Given the description of an element on the screen output the (x, y) to click on. 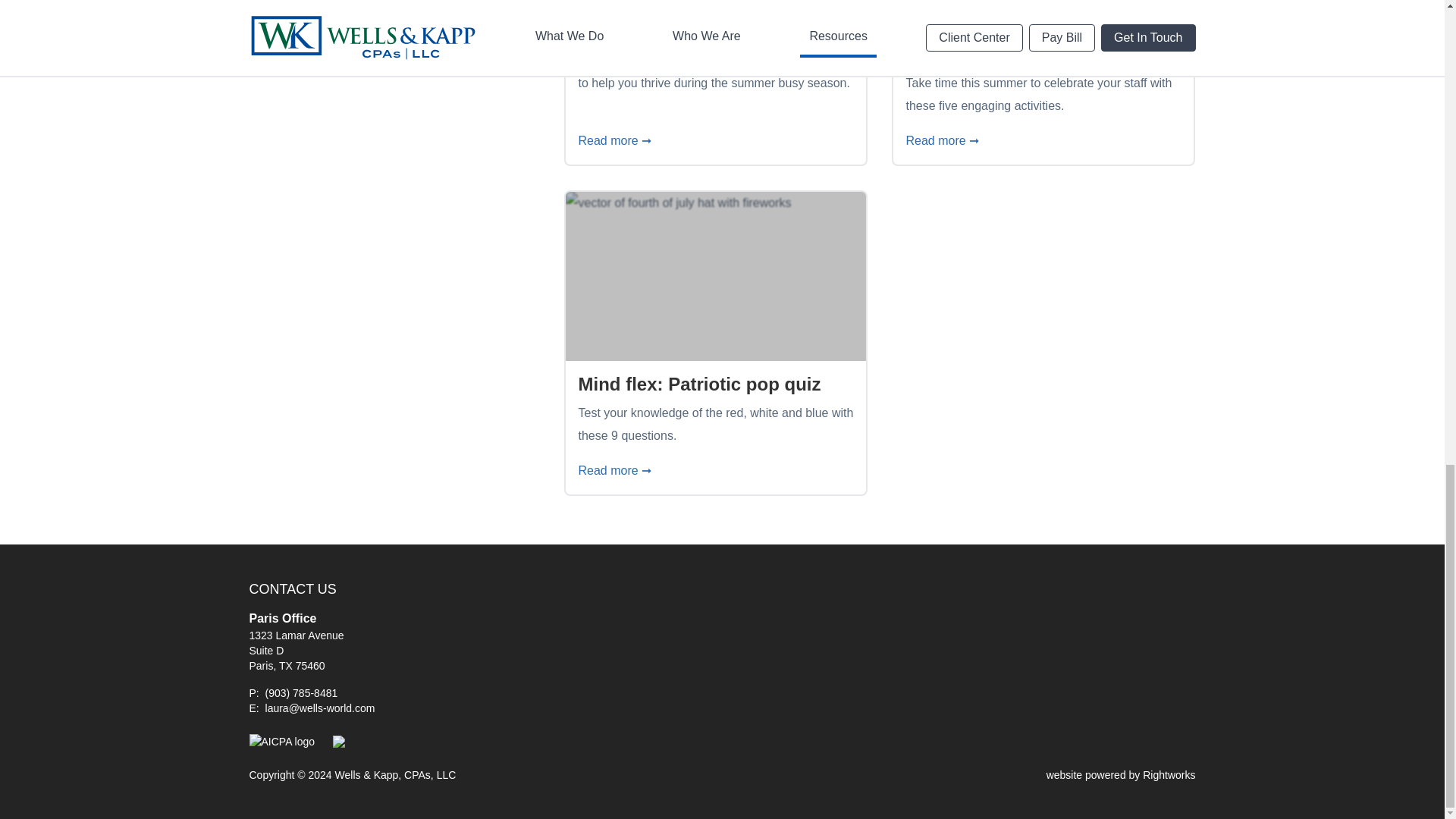
Learn more about Texas Society of CPAs (339, 741)
Learn more about American Institute of CPAs (281, 741)
